Given the description of an element on the screen output the (x, y) to click on. 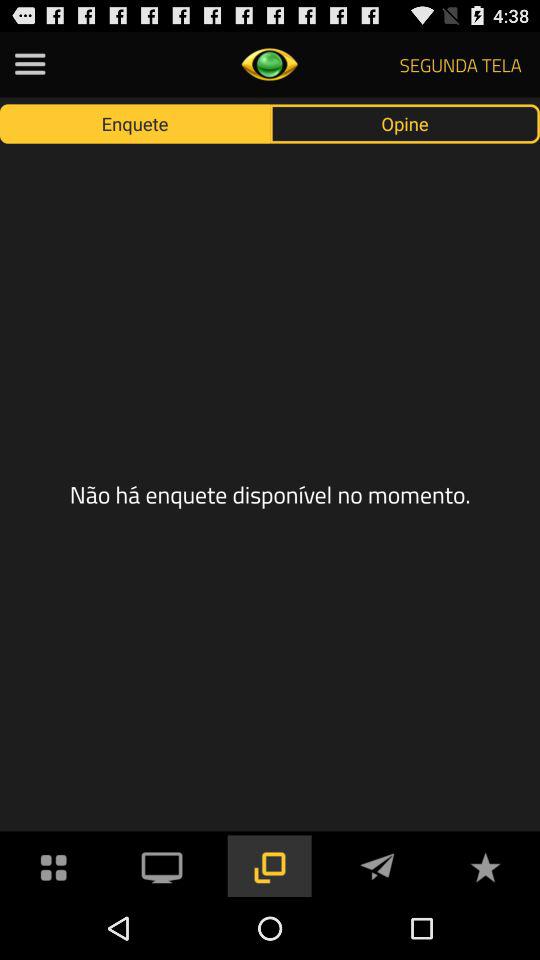
add to favorites (485, 865)
